Given the description of an element on the screen output the (x, y) to click on. 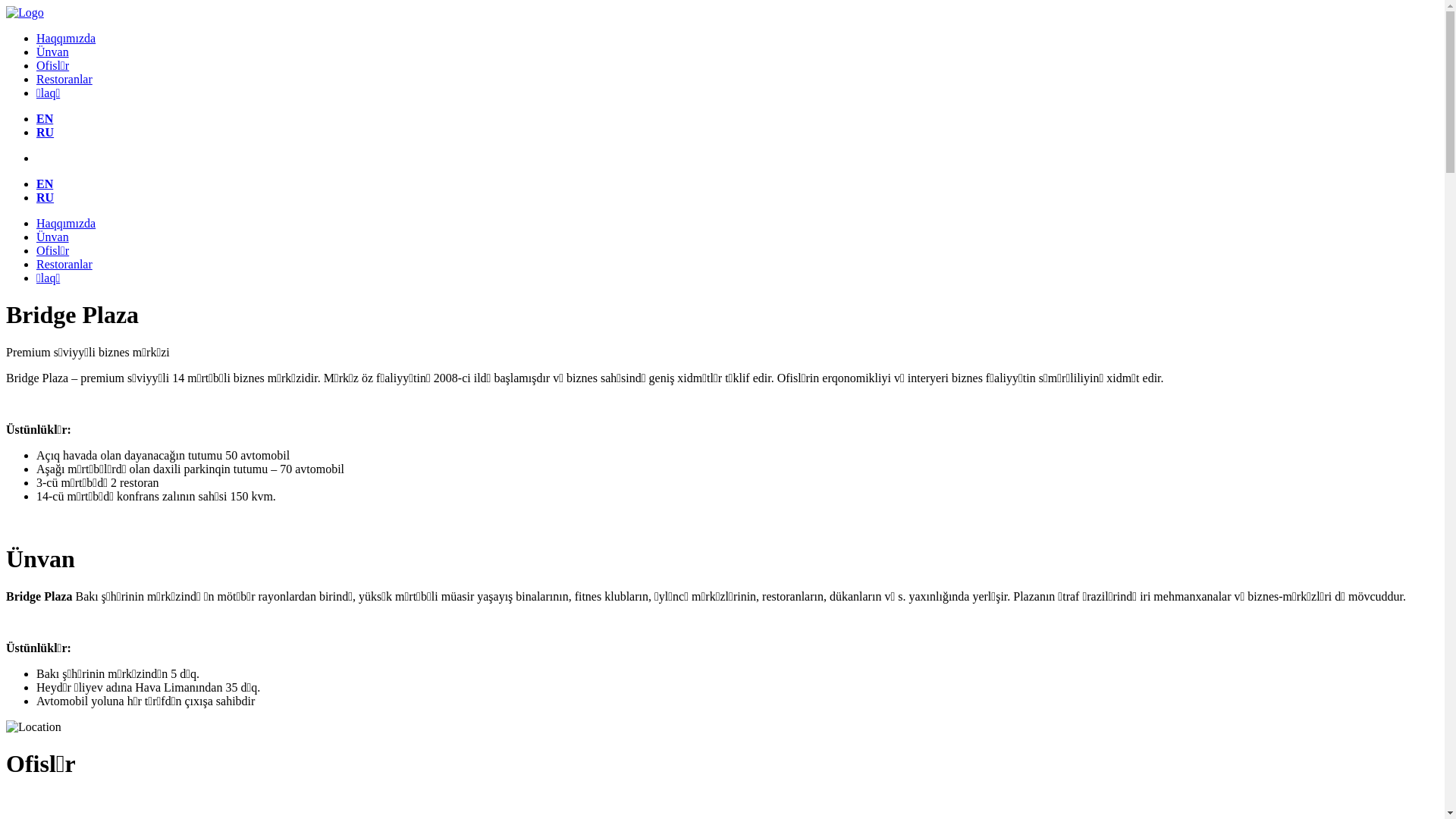
RU Element type: text (44, 131)
Restoranlar Element type: text (64, 263)
RU Element type: text (44, 197)
EN Element type: text (44, 118)
EN Element type: text (44, 183)
Restoranlar Element type: text (64, 78)
